Given the description of an element on the screen output the (x, y) to click on. 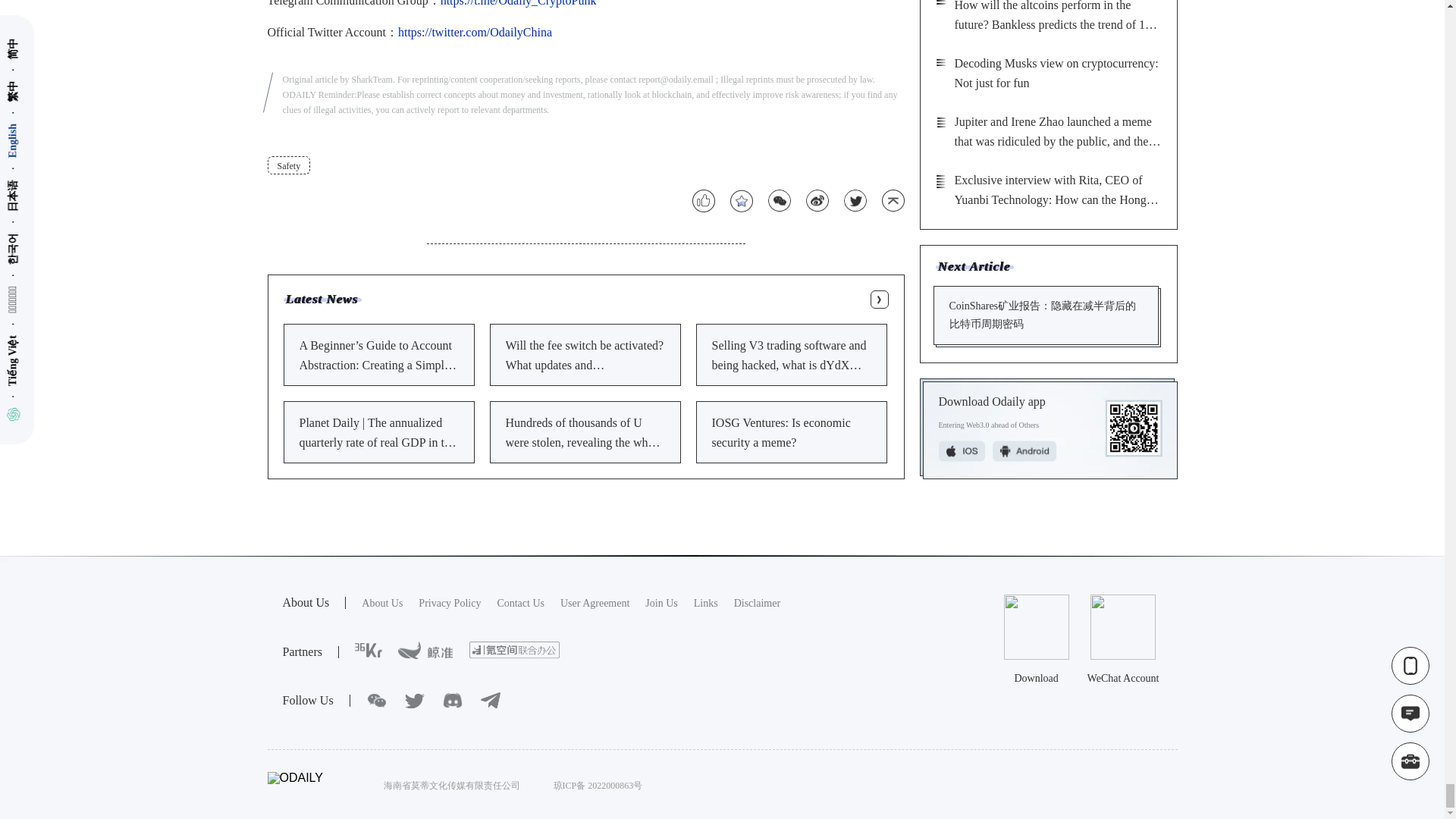
Odaily (520, 603)
Odaily (705, 603)
Odaily (368, 650)
Odaily (594, 603)
Odaily (756, 603)
Odaily (661, 603)
Odaily (449, 603)
Odaily (424, 650)
Odaily (514, 650)
Share to Twitter (854, 200)
Odaily (382, 603)
